Given the description of an element on the screen output the (x, y) to click on. 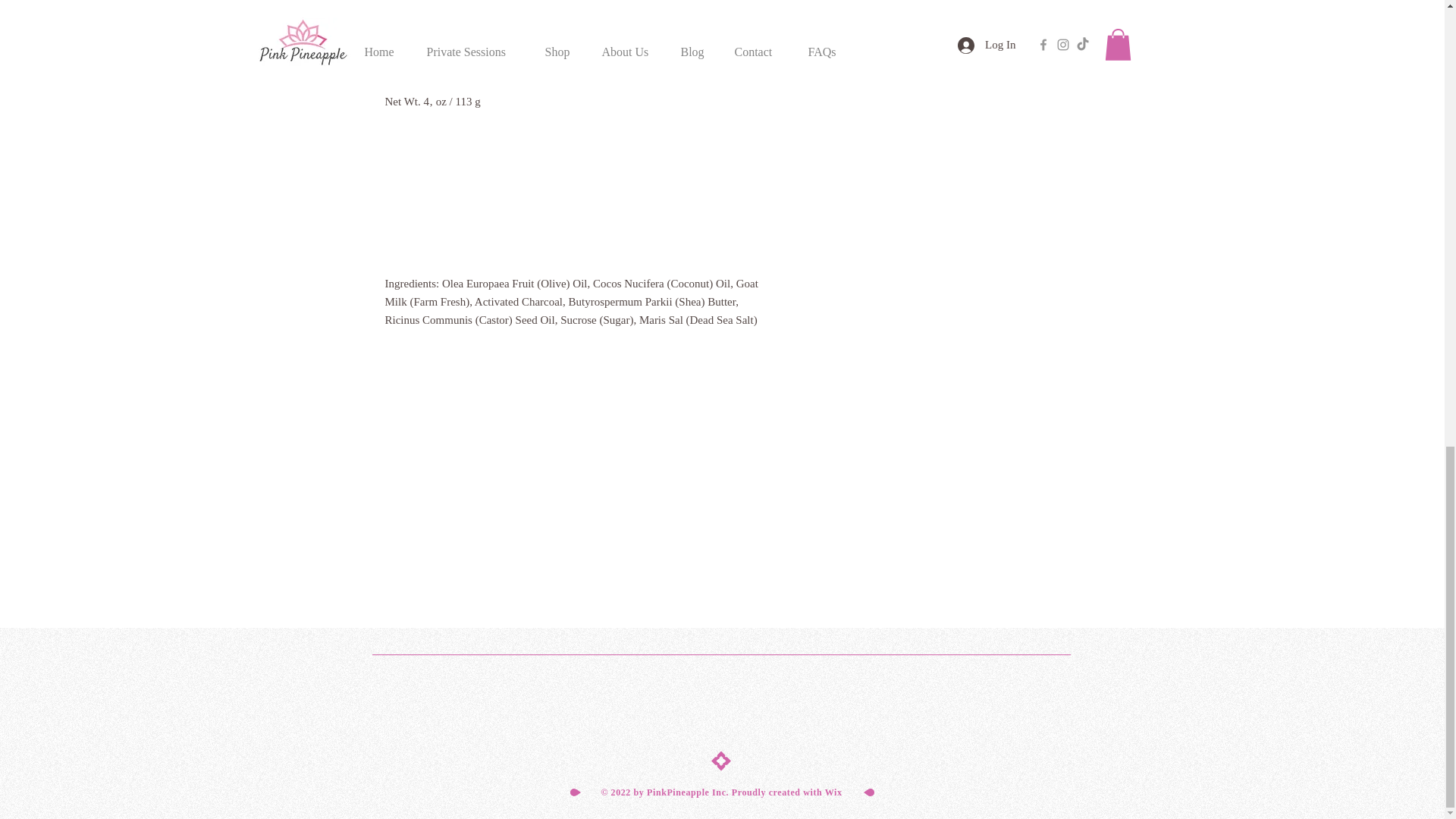
Wix (834, 792)
